Given the description of an element on the screen output the (x, y) to click on. 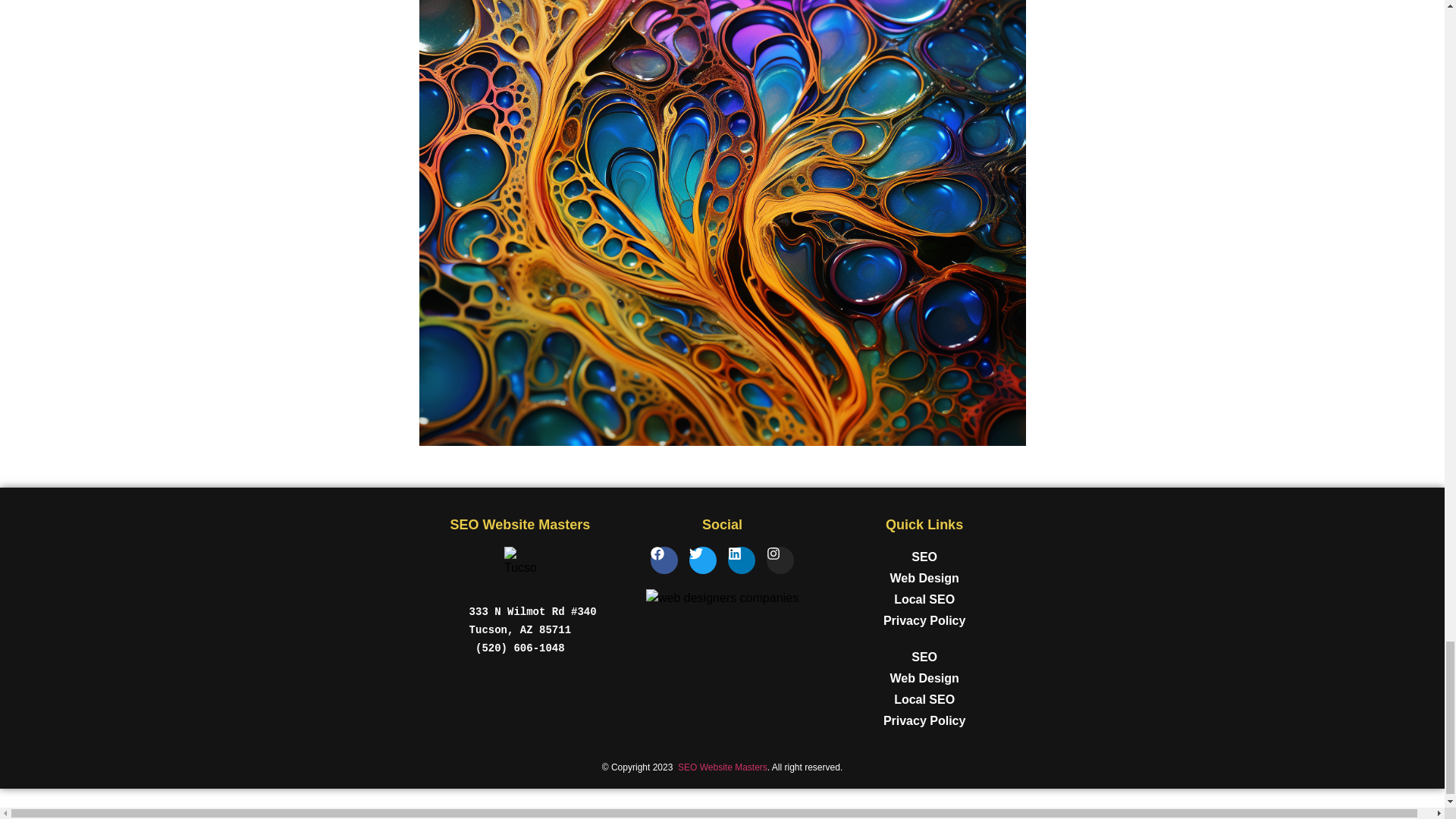
Web Design (924, 678)
web designers companies (721, 597)
Local SEO (924, 599)
SEO (924, 557)
Privacy Policy (924, 721)
SEO (924, 657)
Web Design (924, 578)
Privacy Policy (924, 620)
Local SEO (924, 699)
